Given the description of an element on the screen output the (x, y) to click on. 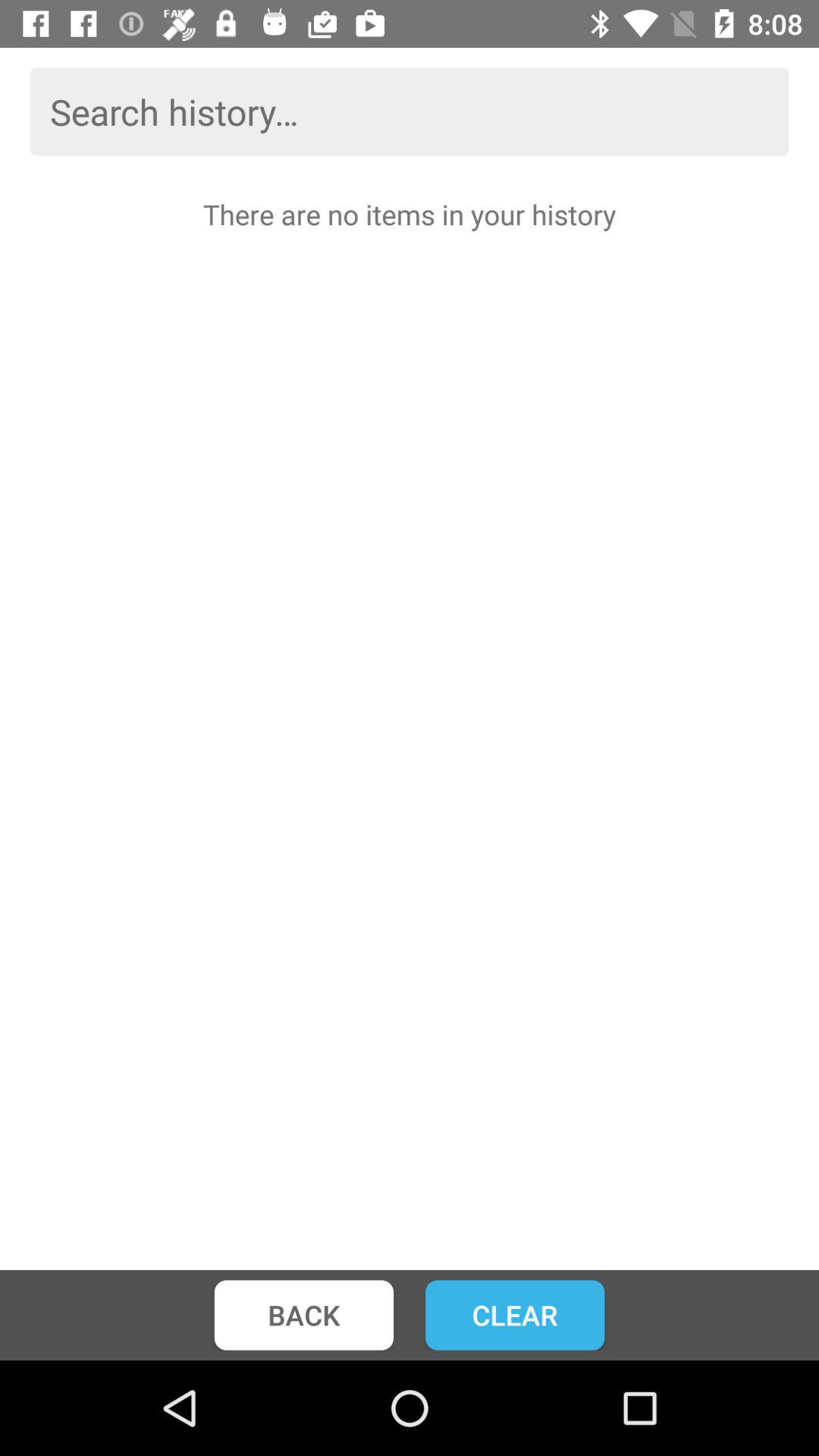
press the icon to the left of clear (303, 1315)
